Given the description of an element on the screen output the (x, y) to click on. 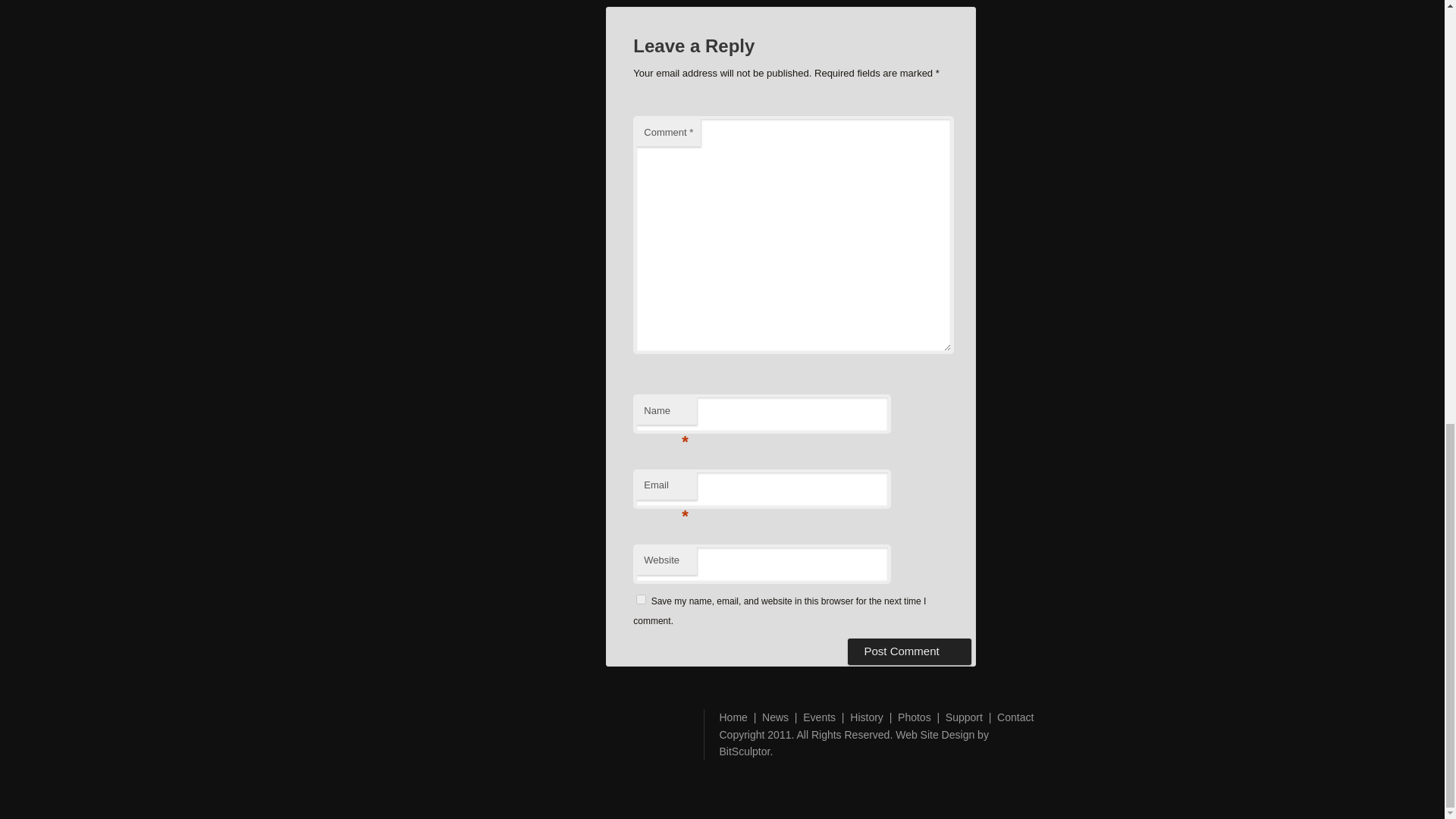
Photos (914, 717)
Post Comment (909, 651)
Post Comment (909, 651)
Contact (1015, 717)
News (775, 717)
Events (819, 717)
History (866, 717)
Home (732, 717)
Support (963, 717)
yes (641, 599)
